Given the description of an element on the screen output the (x, y) to click on. 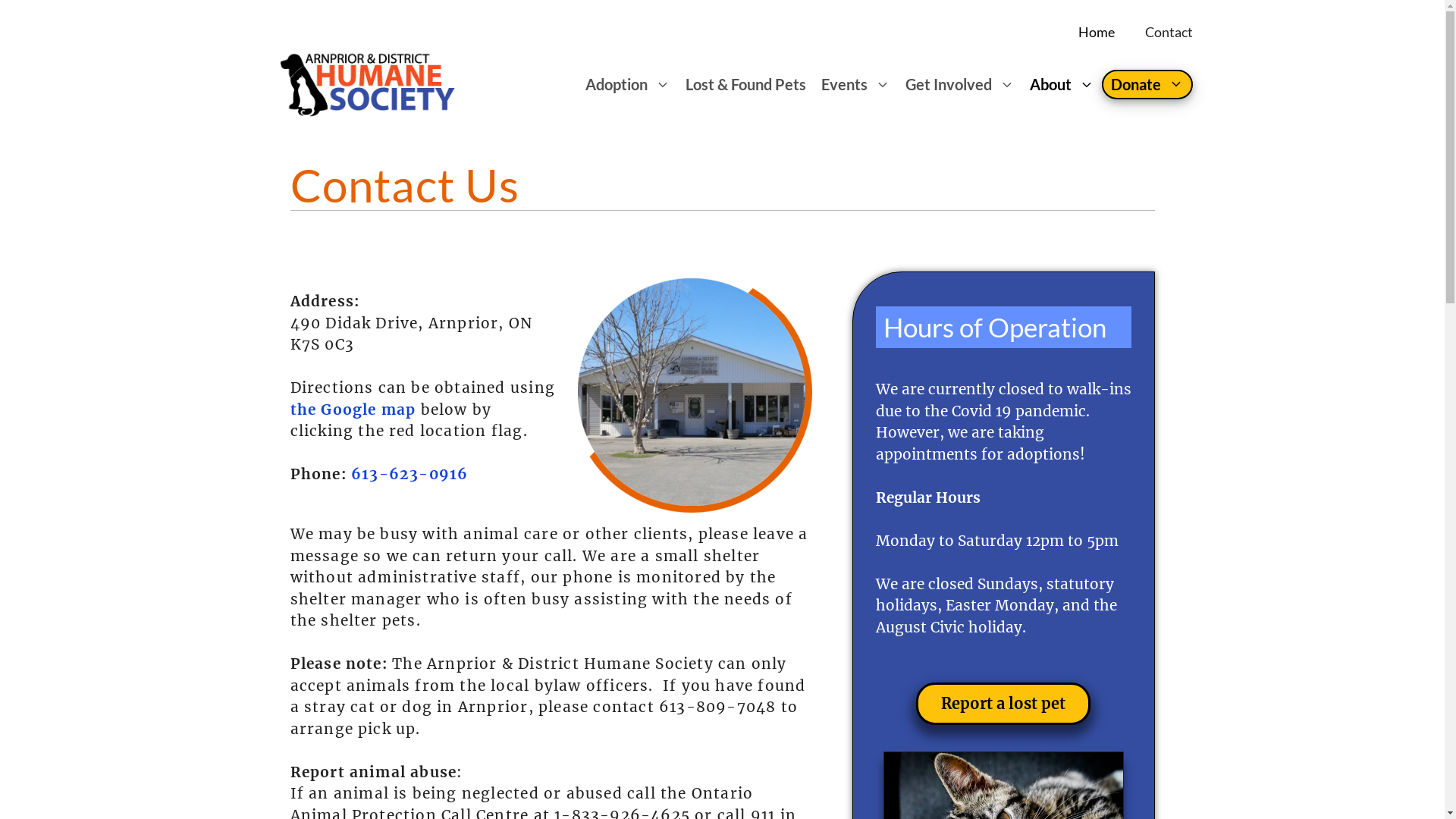
Lost & Found Pets Element type: text (745, 83)
Events Element type: text (854, 83)
Get Involved Element type: text (959, 83)
Home Element type: text (1096, 31)
Contact Element type: text (1168, 31)
Adoption Element type: text (627, 83)
the Google map Element type: text (352, 409)
613-623-0916 Element type: text (409, 473)
Report a lost pet Element type: text (1003, 703)
Donate Element type: text (1146, 84)
About Element type: text (1061, 83)
